Given the description of an element on the screen output the (x, y) to click on. 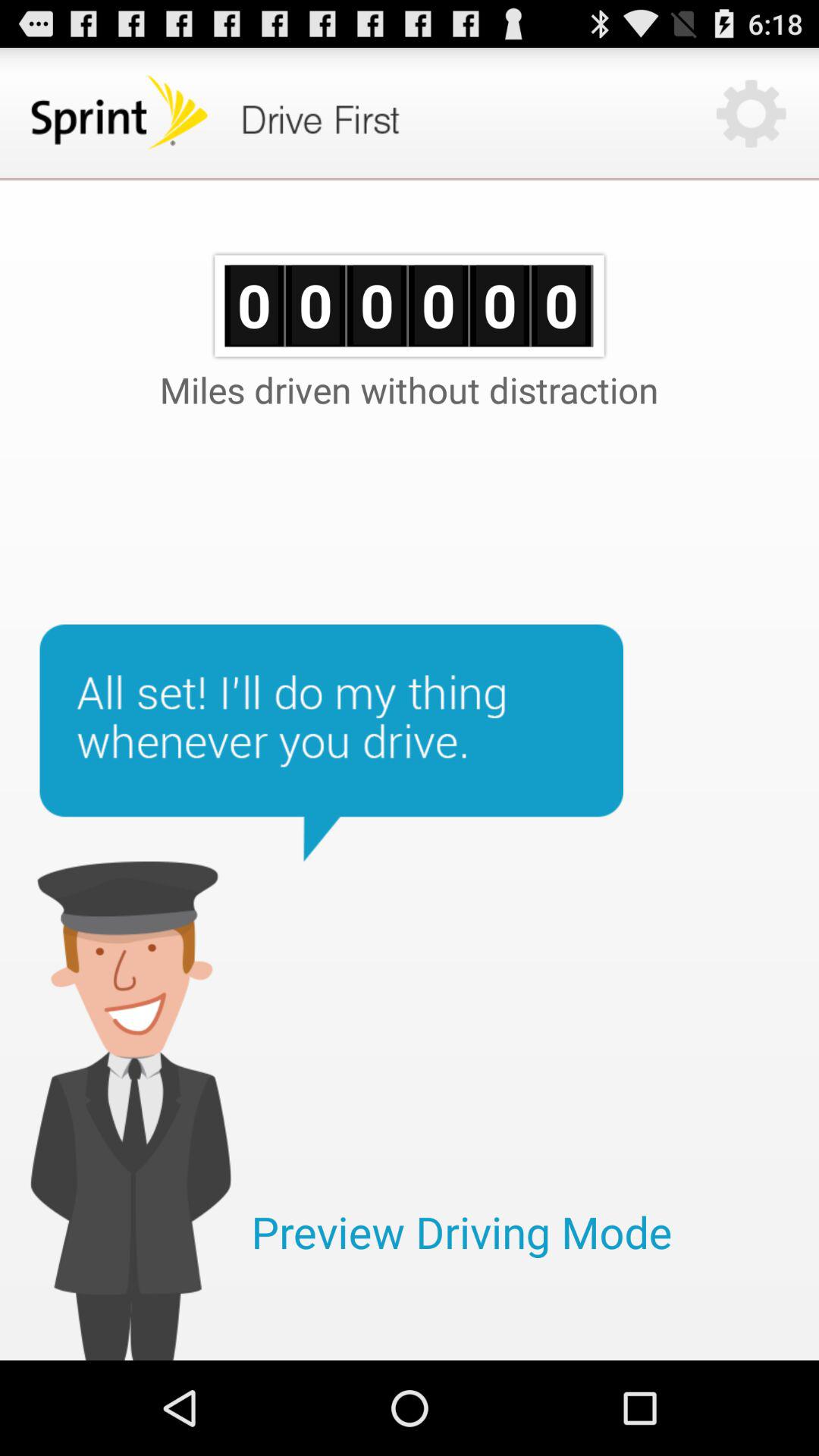
select item at the bottom (461, 1231)
